Given the description of an element on the screen output the (x, y) to click on. 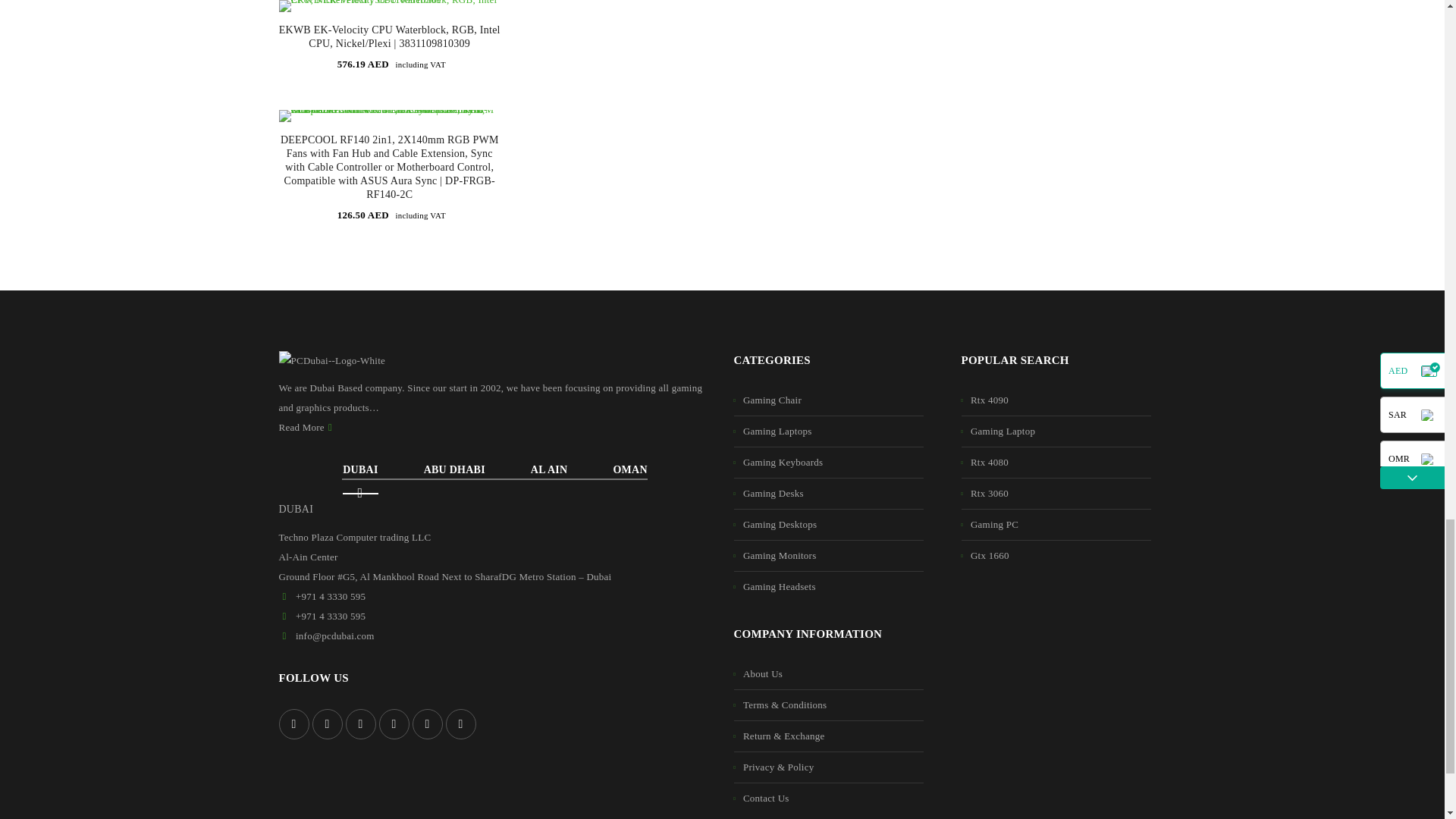
PCDubai--Logo-White (332, 361)
